Given the description of an element on the screen output the (x, y) to click on. 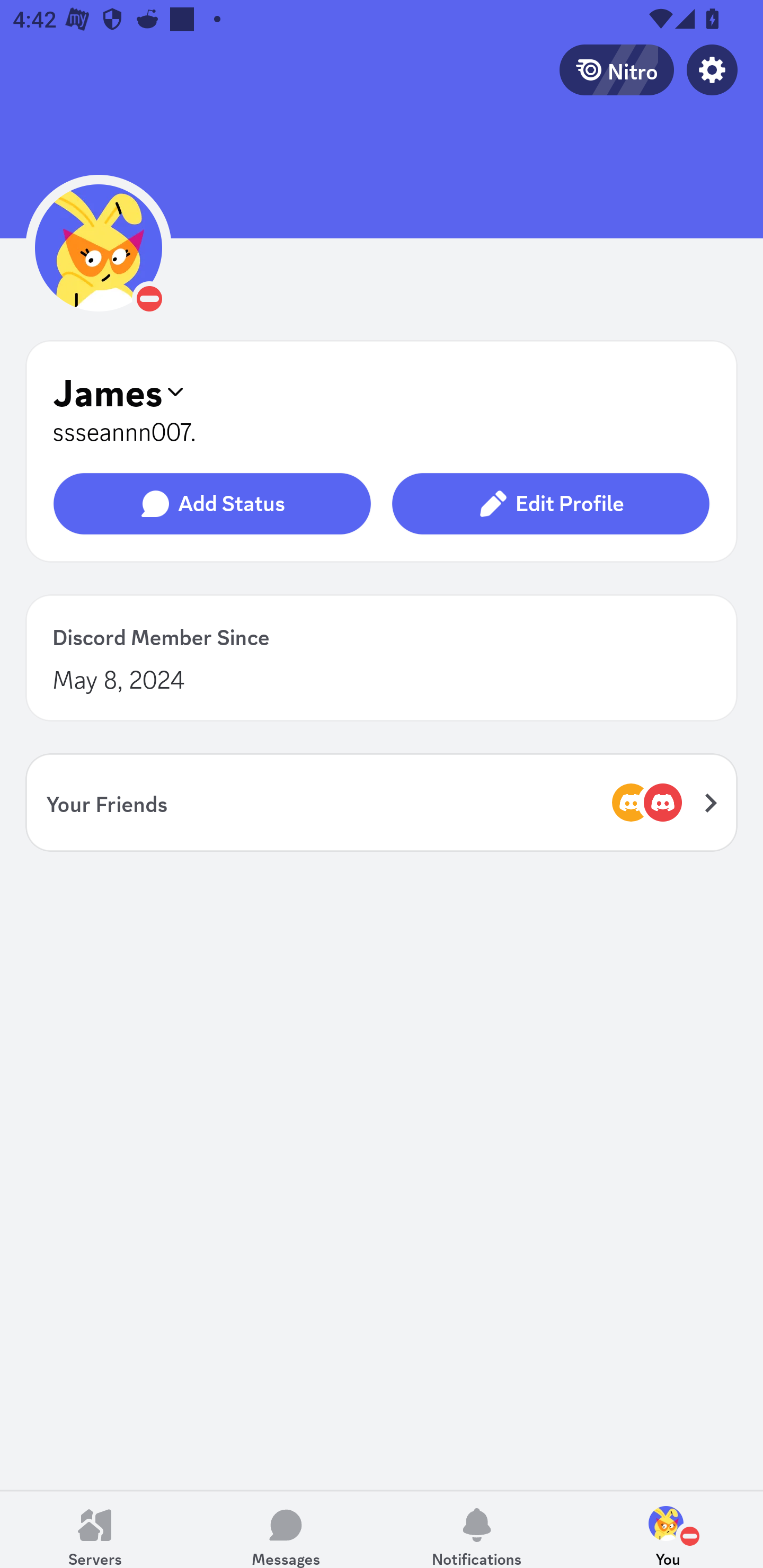
Nitro (616, 69)
Settings (711, 69)
James (381, 390)
Add Status (212, 503)
Edit Profile (550, 503)
Your Friends (381, 801)
Servers (95, 1529)
Messages (285, 1529)
Notifications (476, 1529)
You (667, 1529)
